Given the description of an element on the screen output the (x, y) to click on. 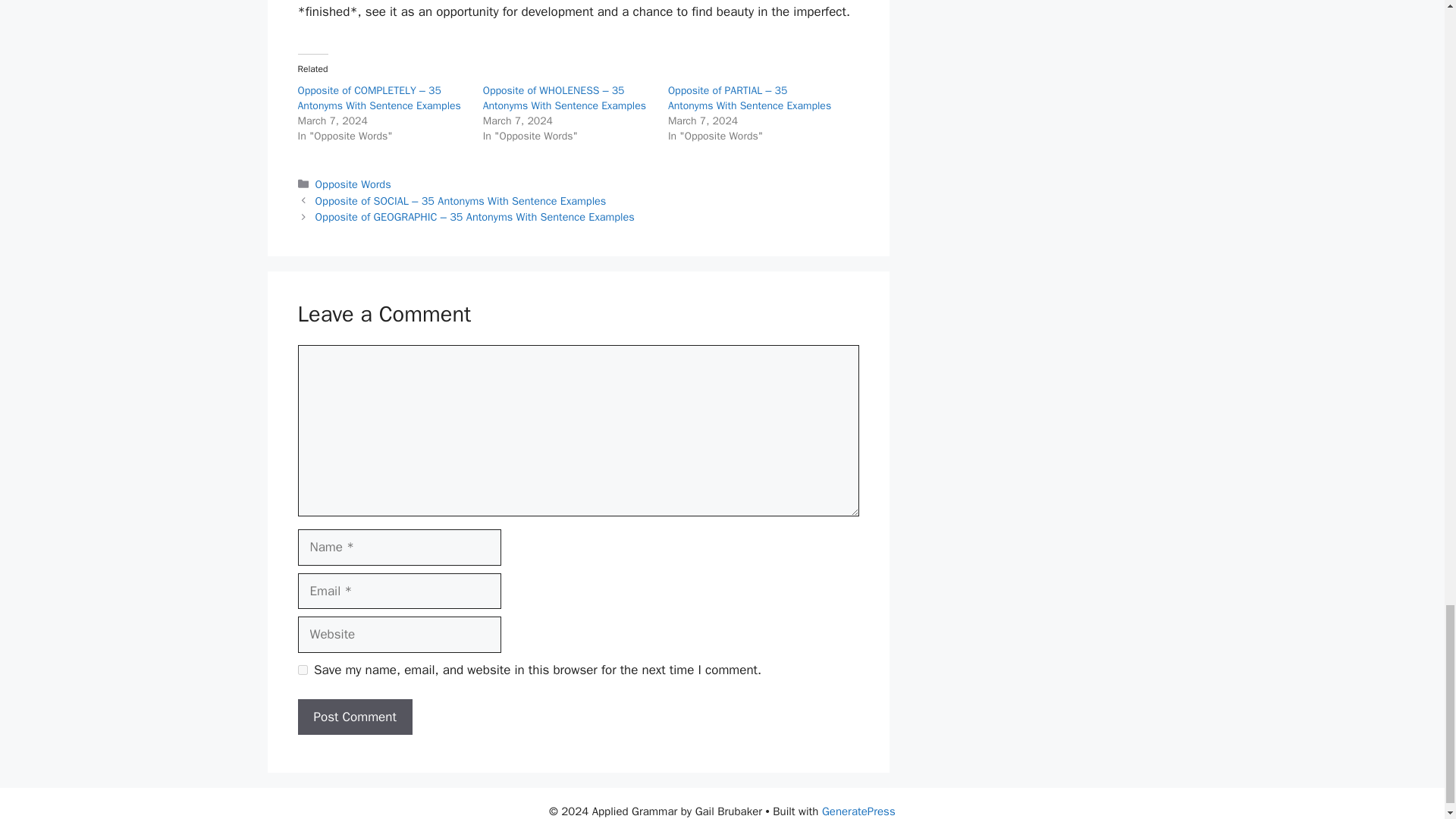
Opposite Words (353, 183)
Post Comment (354, 717)
Post Comment (354, 717)
yes (302, 669)
